Given the description of an element on the screen output the (x, y) to click on. 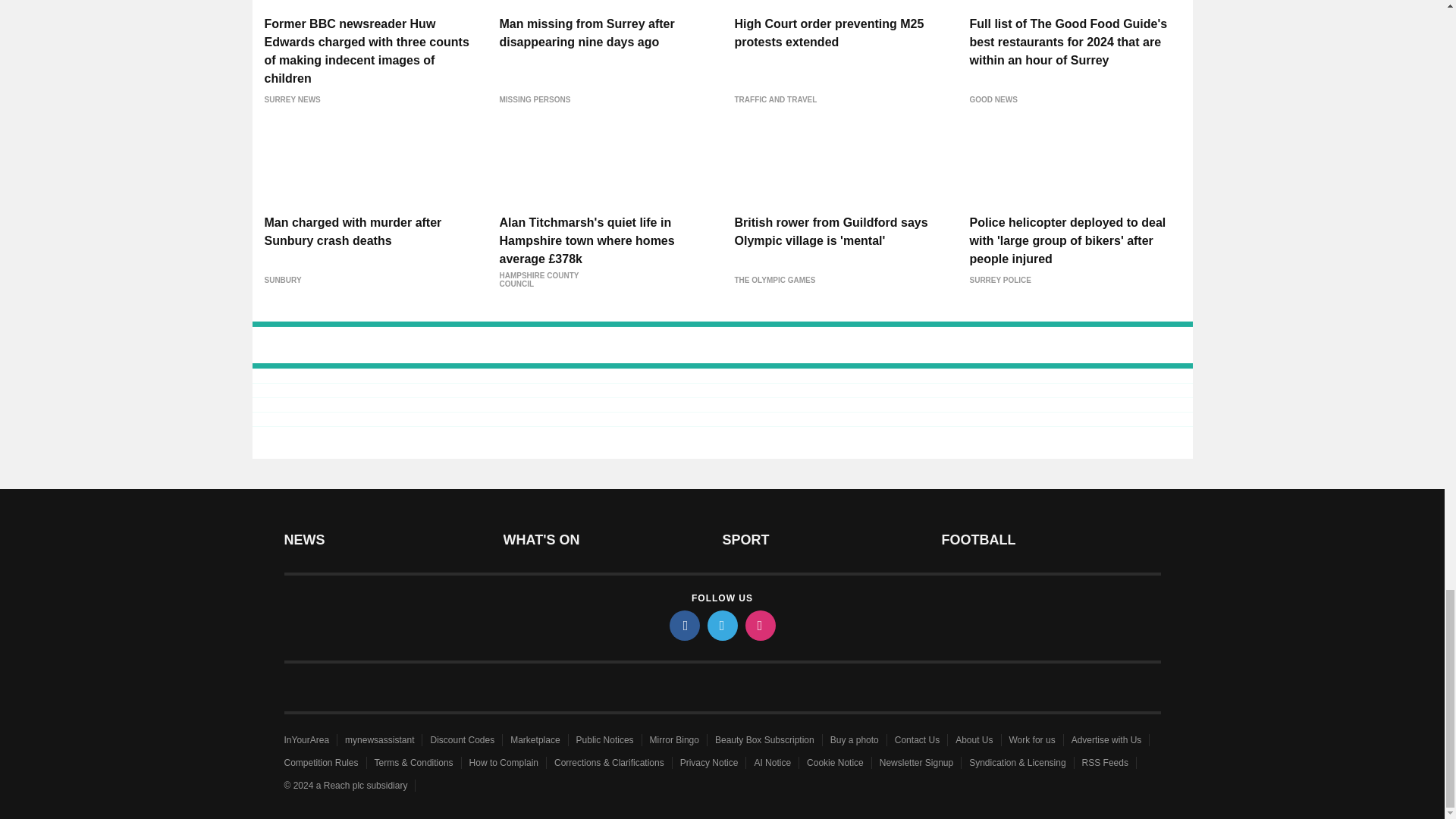
facebook (683, 625)
twitter (721, 625)
instagram (759, 625)
